Given the description of an element on the screen output the (x, y) to click on. 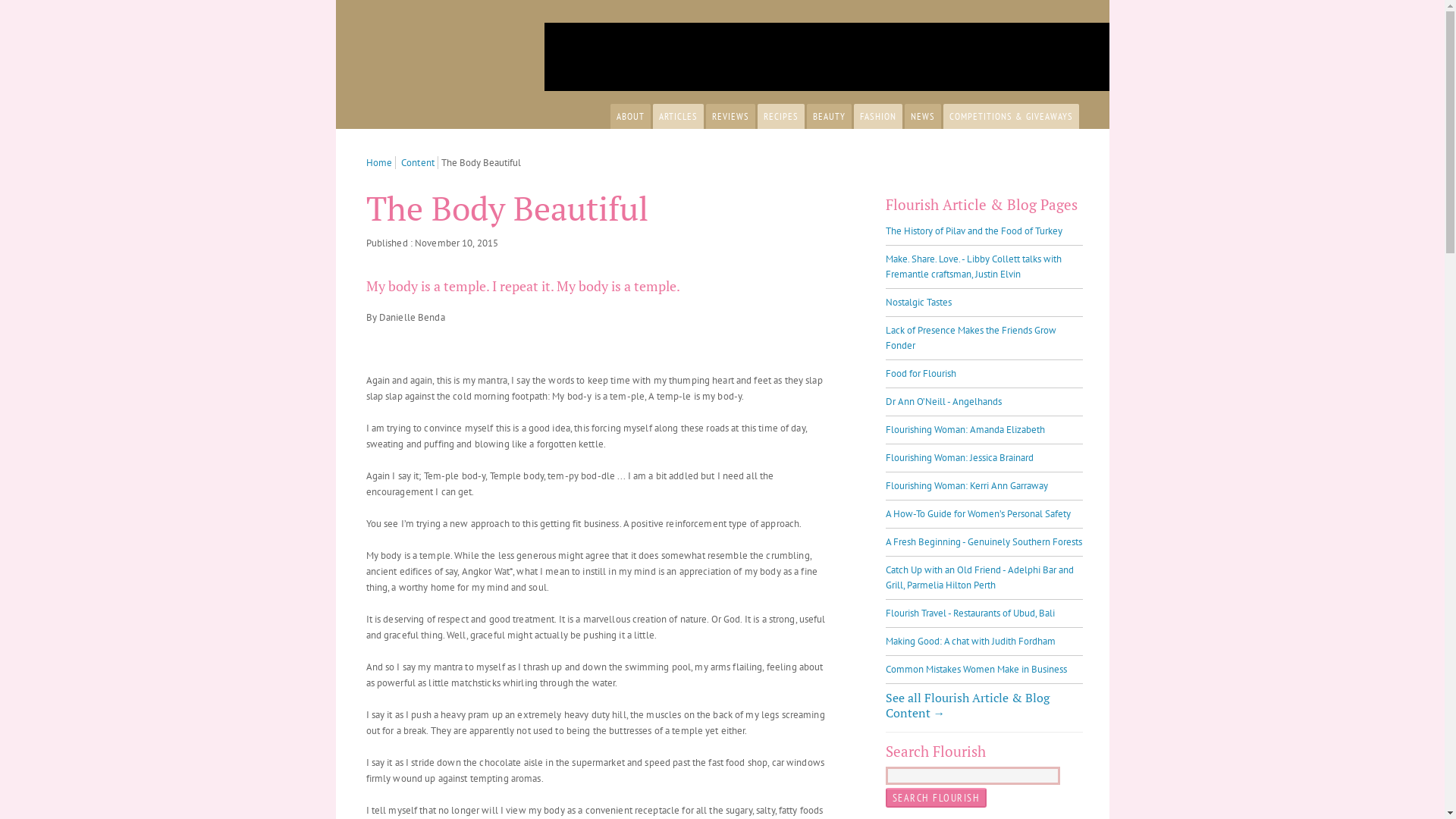
ABOUT Element type: text (629, 115)
COMPETITIONS & GIVEAWAYS Element type: text (1011, 115)
ARTICLES Element type: text (677, 115)
BEAUTY Element type: text (828, 115)
Search Flourish Element type: text (936, 797)
Making Good: A chat with Judith Fordham Element type: text (970, 640)
Home Element type: text (380, 162)
RECIPES Element type: text (779, 115)
Flourishing Woman: Kerri Ann Garraway Element type: text (966, 485)
The History of Pilav and the Food of Turkey Element type: text (973, 230)
Advertisement Element type: hover (820, 56)
FASHION Element type: text (877, 115)
Food for Flourish Element type: text (920, 373)
Flourishing Woman: Jessica Brainard Element type: text (959, 457)
Content Element type: text (419, 162)
Lack of Presence Makes the Friends Grow Fonder Element type: text (970, 337)
A Fresh Beginning - Genuinely Southern Forests Element type: text (983, 541)
Flourish Magazine Element type: text (421, 73)
Flourish Travel - Restaurants of Ubud, Bali Element type: text (969, 612)
NEWS Element type: text (921, 115)
REVIEWS Element type: text (729, 115)
Nostalgic Tastes Element type: text (918, 301)
Common Mistakes Women Make in Business Element type: text (975, 668)
Flourishing Woman: Amanda Elizabeth Element type: text (964, 429)
